Given the description of an element on the screen output the (x, y) to click on. 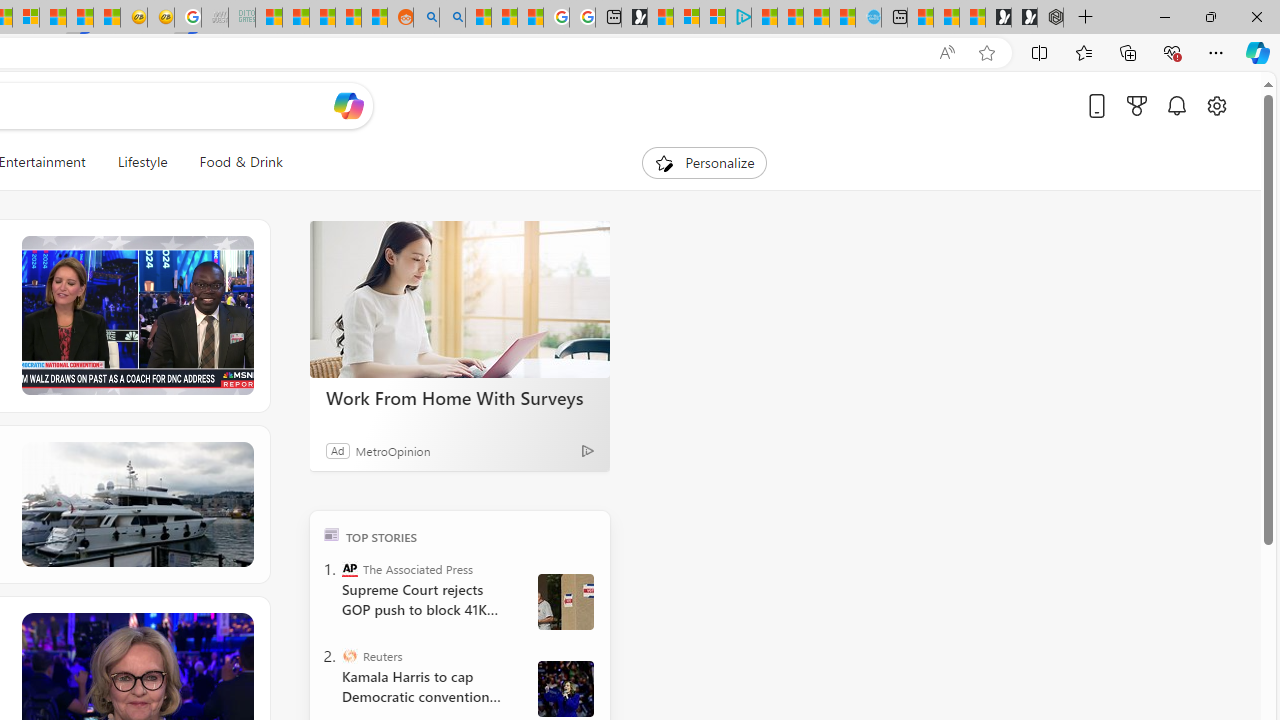
Microsoft rewards (1137, 105)
Work From Home With Surveys (459, 299)
MSNBC - MSN (268, 17)
Open Copilot (347, 105)
Open Copilot (347, 105)
Microsoft account | Privacy (712, 17)
Reuters (349, 655)
